Given the description of an element on the screen output the (x, y) to click on. 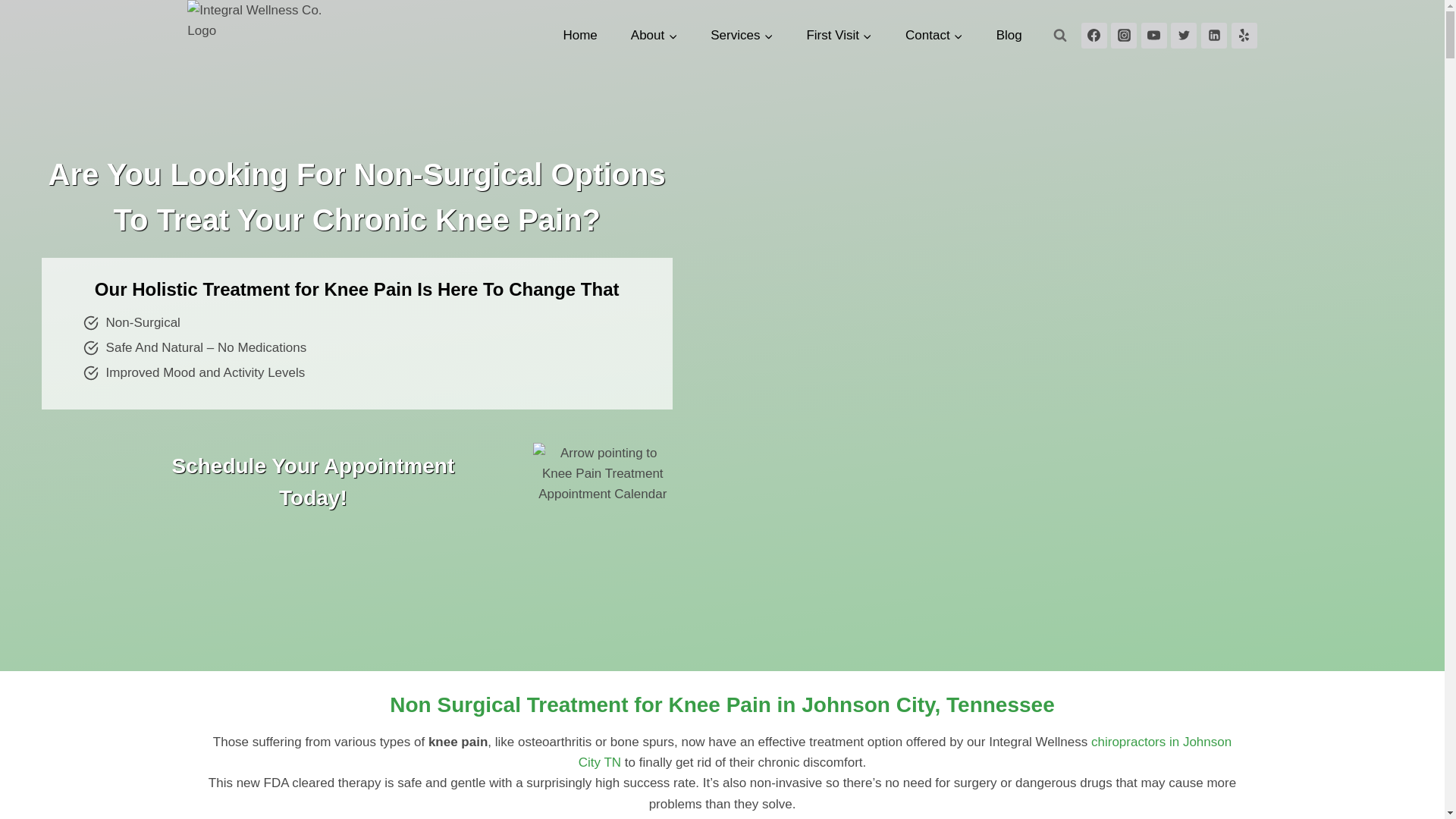
Home (579, 34)
First Visit (838, 34)
chiropractors in Johnson City TN (904, 751)
About (654, 34)
Contact (933, 34)
Services (741, 34)
Blog (1009, 34)
